Given the description of an element on the screen output the (x, y) to click on. 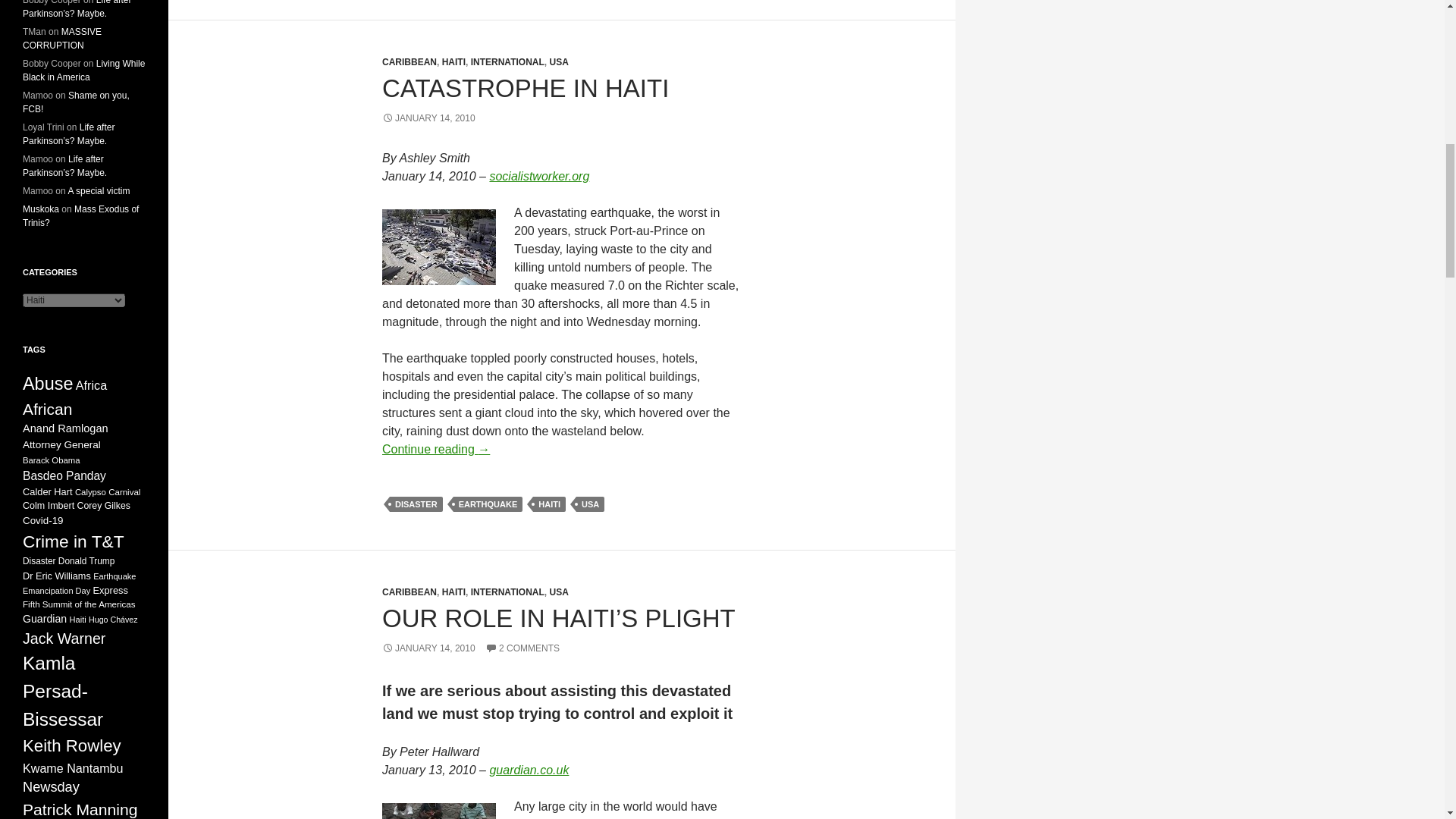
CATASTROPHE IN HAITI (524, 88)
DISASTER (416, 503)
CARIBBEAN (408, 61)
Haiti (438, 811)
CARIBBEAN (408, 592)
socialistworker.org (539, 175)
HAITI (549, 503)
Haiti (438, 247)
EARTHQUAKE (487, 503)
INTERNATIONAL (507, 61)
USA (557, 61)
HAITI (453, 592)
JANUARY 14, 2010 (428, 118)
USA (590, 503)
HAITI (453, 61)
